Given the description of an element on the screen output the (x, y) to click on. 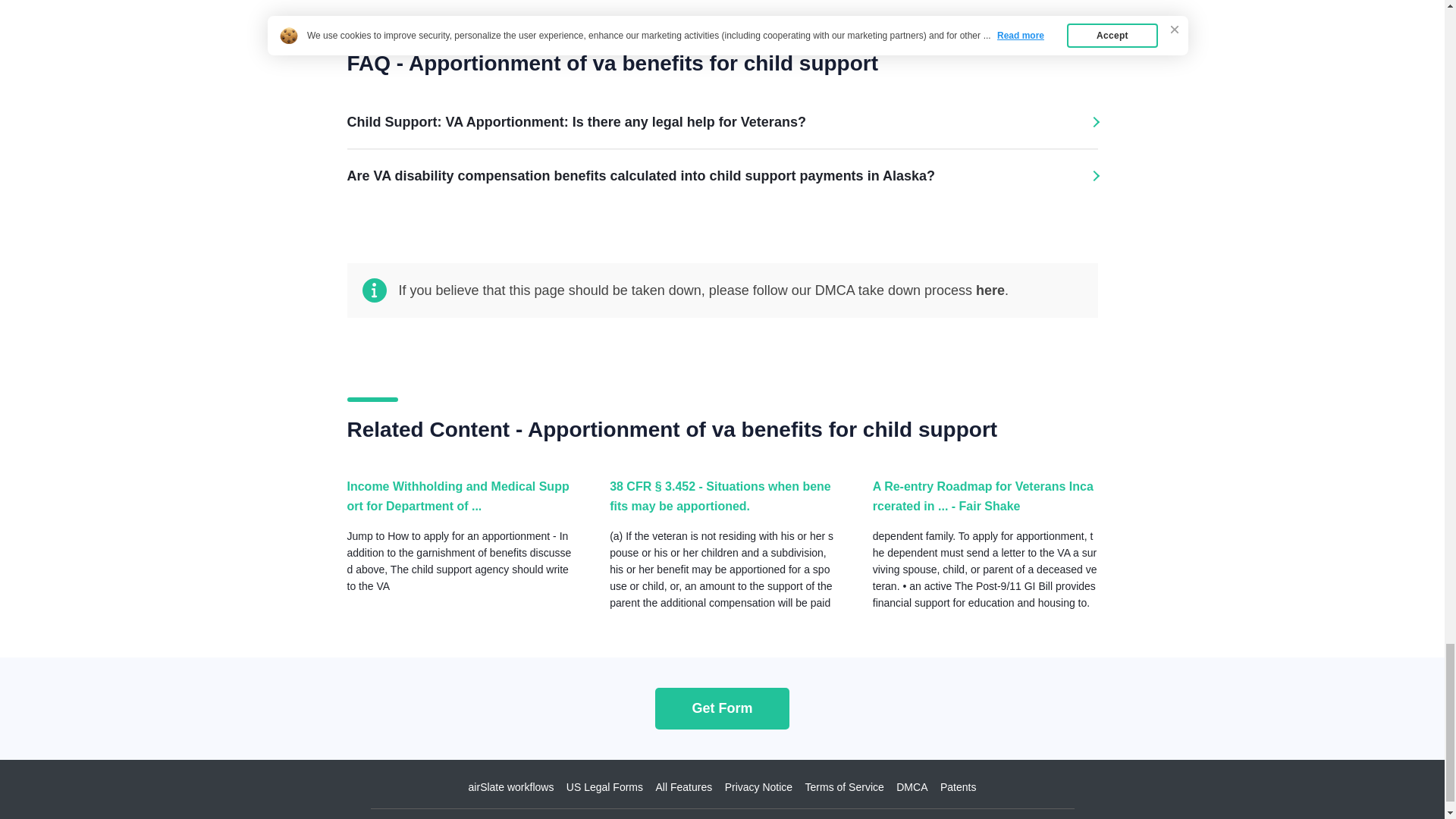
All Features (683, 787)
DMCA (911, 787)
airSlate workflows (511, 787)
Get Form (722, 707)
Privacy Notice (758, 787)
Terms of Service (844, 787)
US Legal Forms (604, 787)
here (989, 290)
Patents (957, 787)
